Given the description of an element on the screen output the (x, y) to click on. 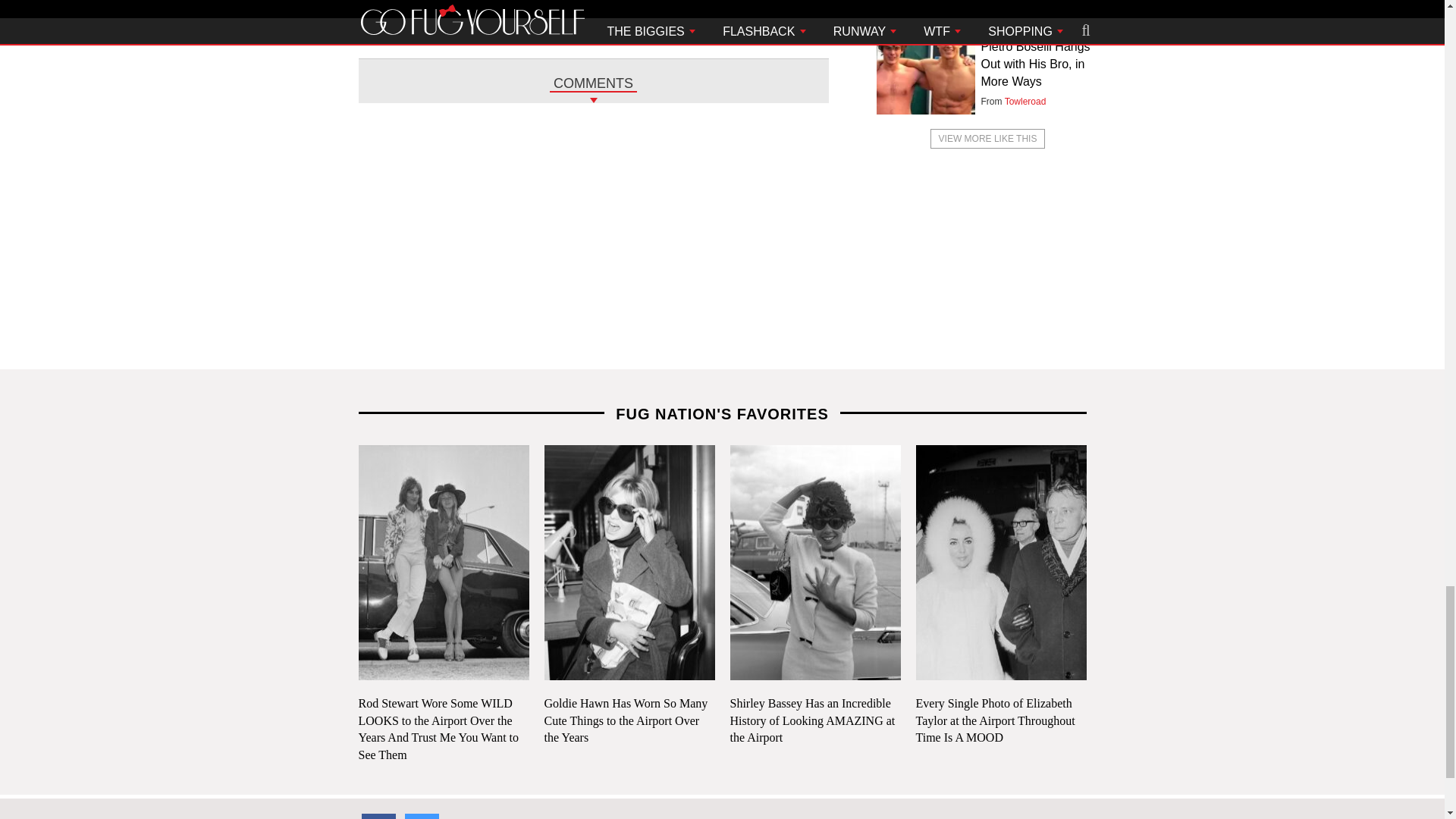
3rd party ad content (592, 26)
3rd party ad content (721, 259)
